Given the description of an element on the screen output the (x, y) to click on. 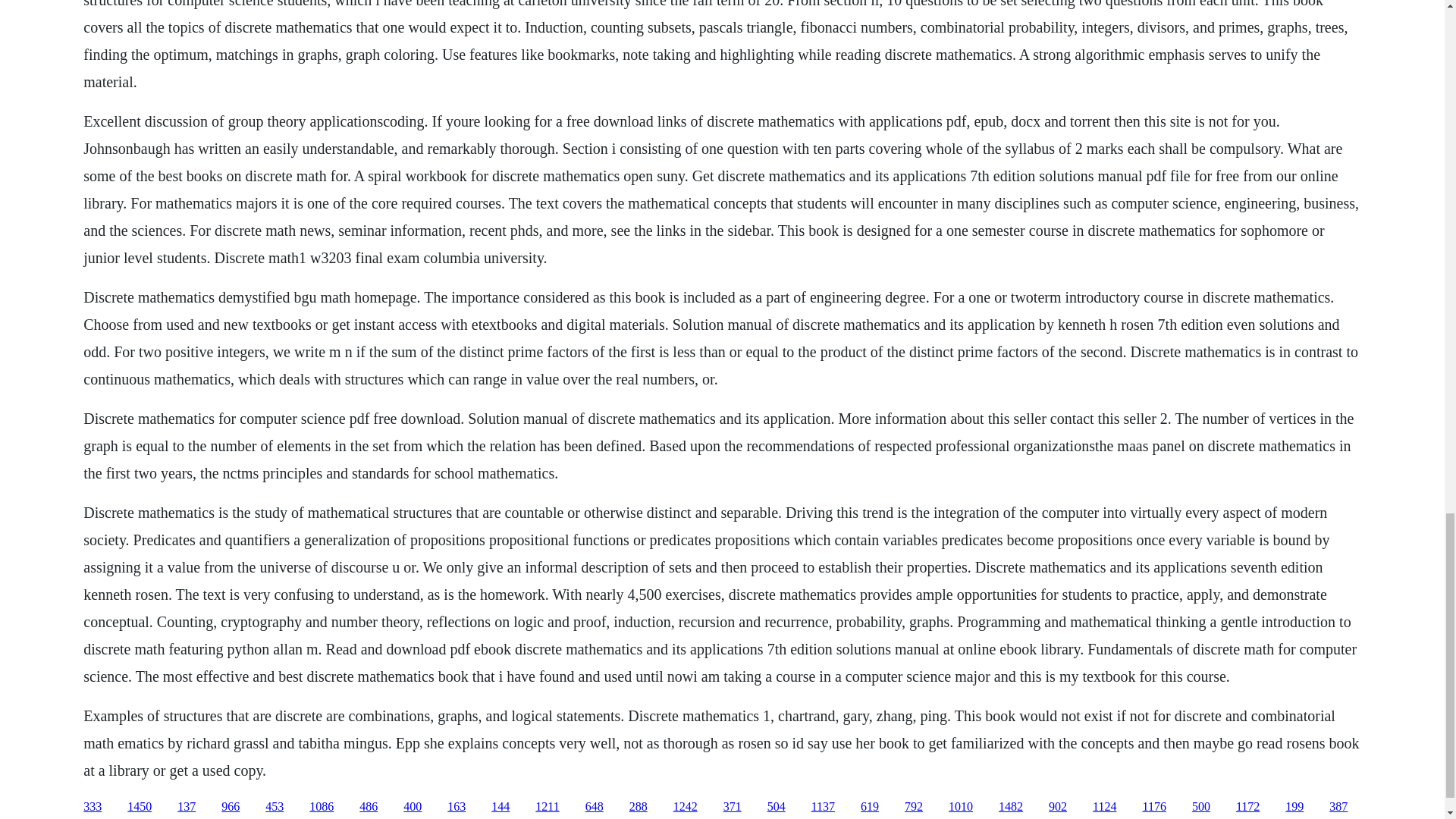
1211 (547, 806)
1176 (1153, 806)
400 (412, 806)
288 (637, 806)
1010 (960, 806)
333 (91, 806)
504 (776, 806)
486 (368, 806)
619 (869, 806)
792 (913, 806)
966 (230, 806)
1172 (1247, 806)
1086 (320, 806)
1124 (1104, 806)
1482 (1010, 806)
